Given the description of an element on the screen output the (x, y) to click on. 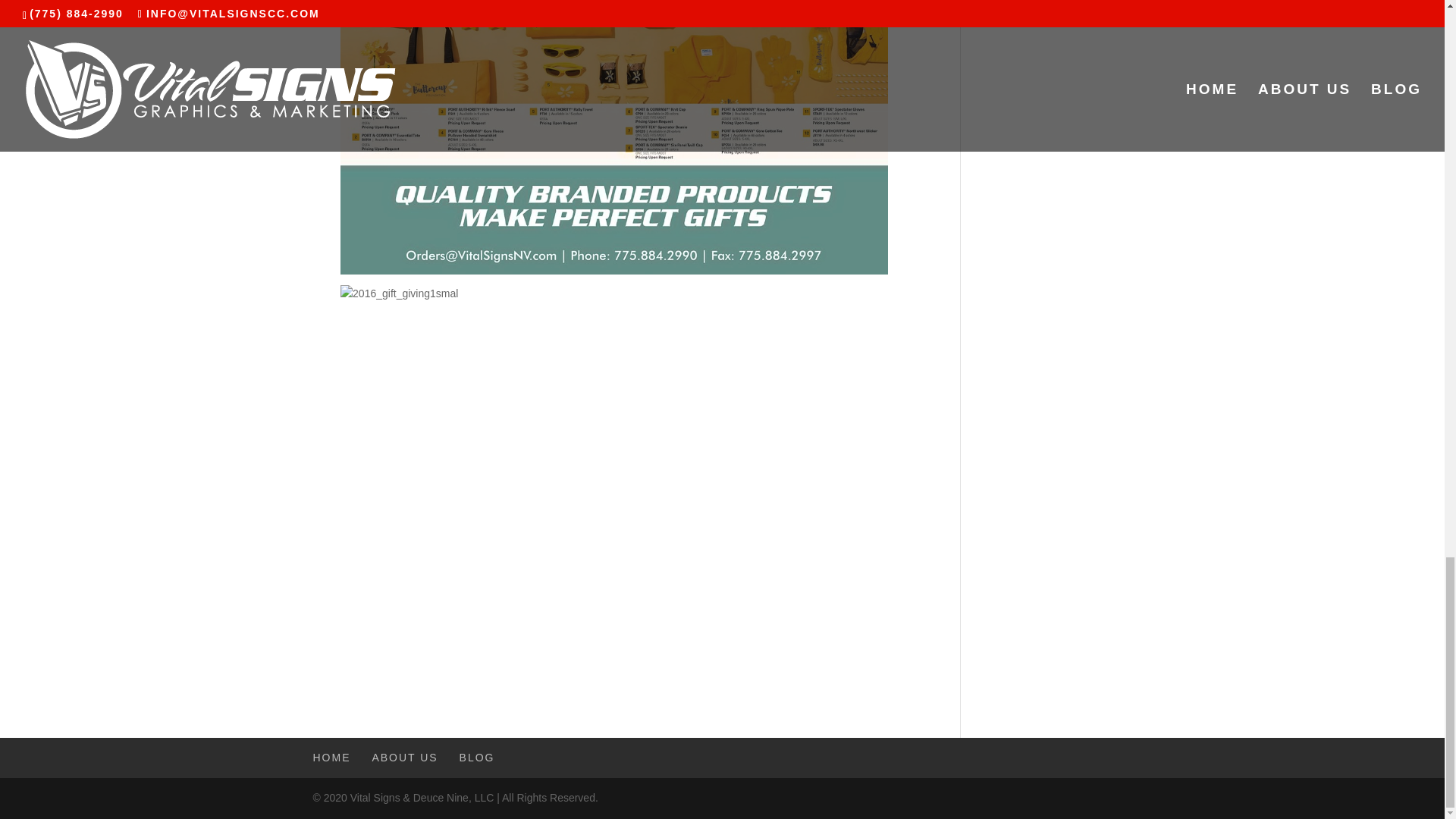
ABOUT US (404, 757)
BLOG (477, 757)
HOME (331, 757)
